Given the description of an element on the screen output the (x, y) to click on. 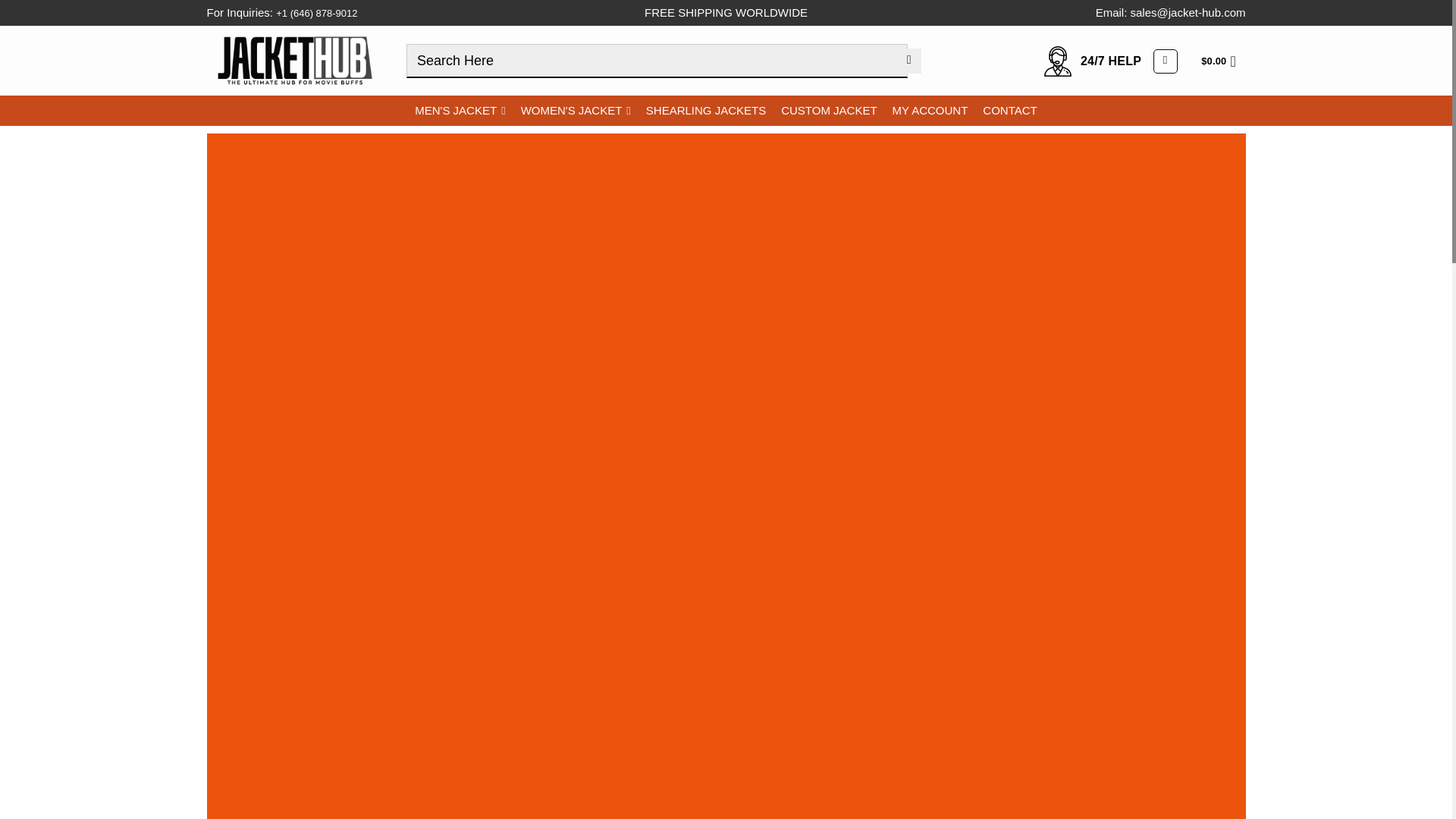
Search (908, 60)
Cart (1222, 60)
Jacket Hub (294, 60)
